Given the description of an element on the screen output the (x, y) to click on. 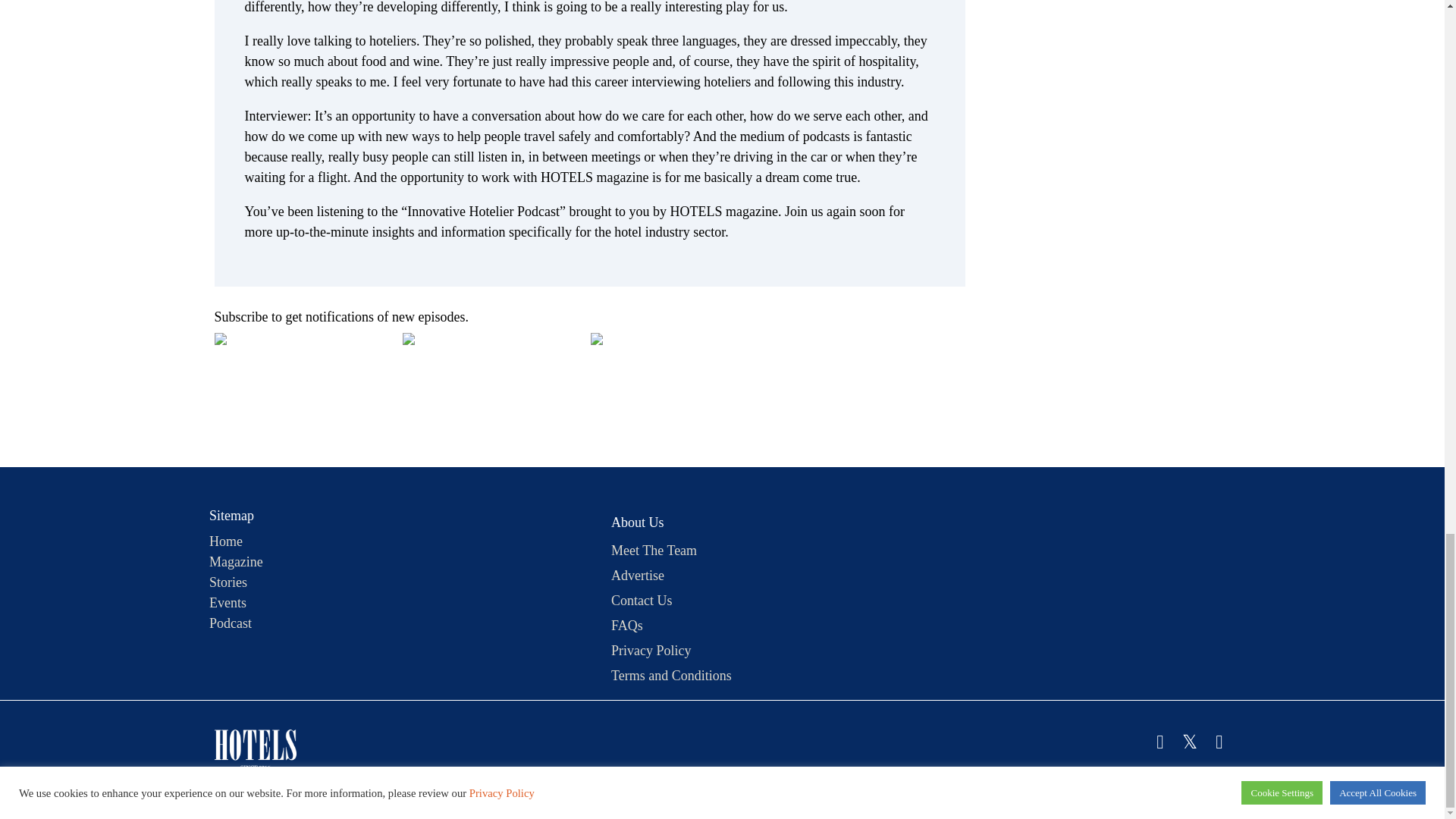
Home (226, 540)
Podcast (230, 622)
Events (227, 602)
Stories (228, 581)
Magazine (236, 561)
Sitemap (226, 519)
